Given the description of an element on the screen output the (x, y) to click on. 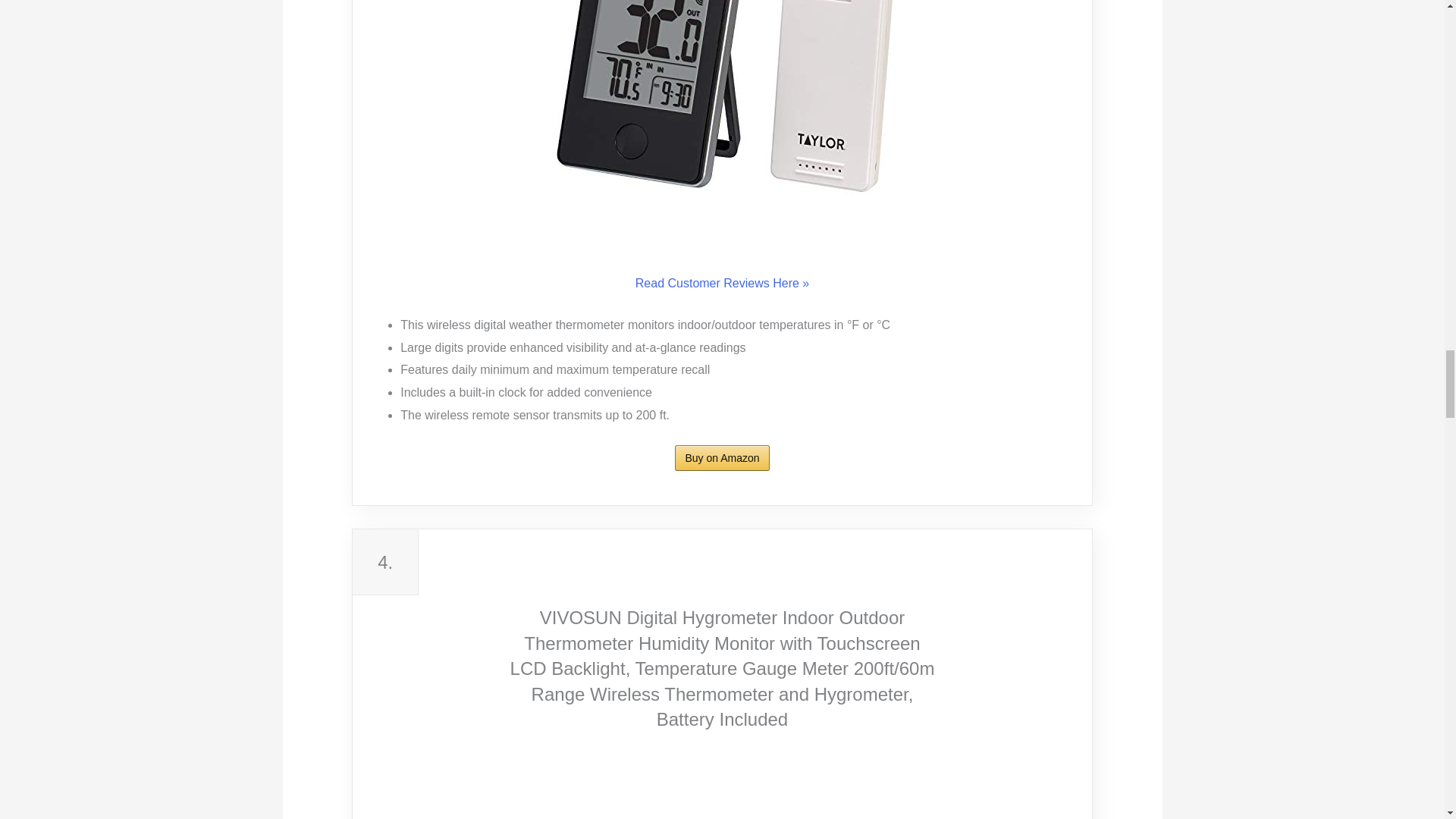
Buy on Amazon (721, 457)
Read Customer Reviews Here (721, 282)
